Given the description of an element on the screen output the (x, y) to click on. 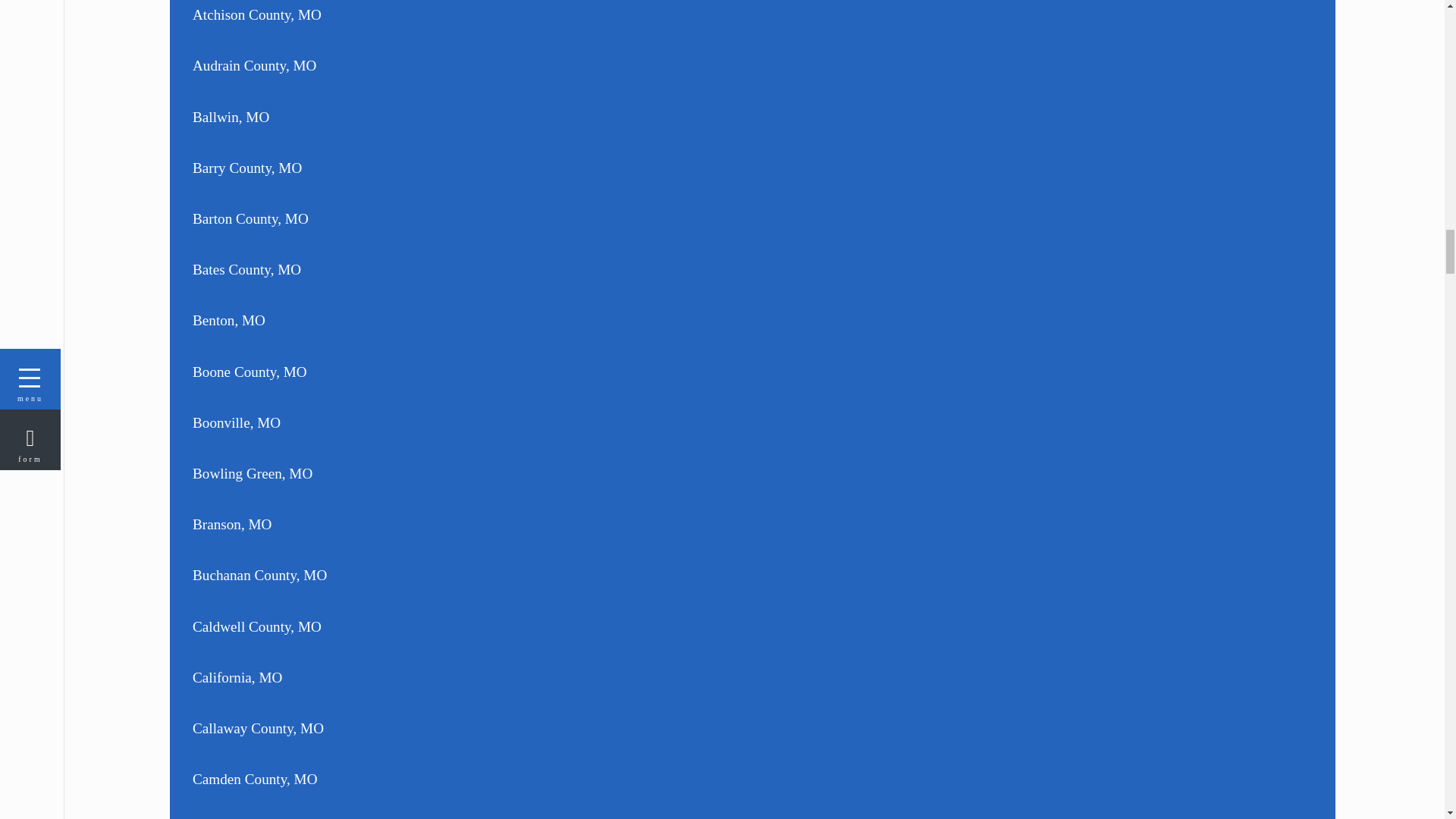
Ballwin, MO (368, 116)
Atchison County, MO (368, 20)
Benton, MO (368, 319)
Barton County, MO (368, 218)
Barry County, MO (368, 167)
Bates County, MO (368, 269)
Audrain County, MO (368, 65)
